Given the description of an element on the screen output the (x, y) to click on. 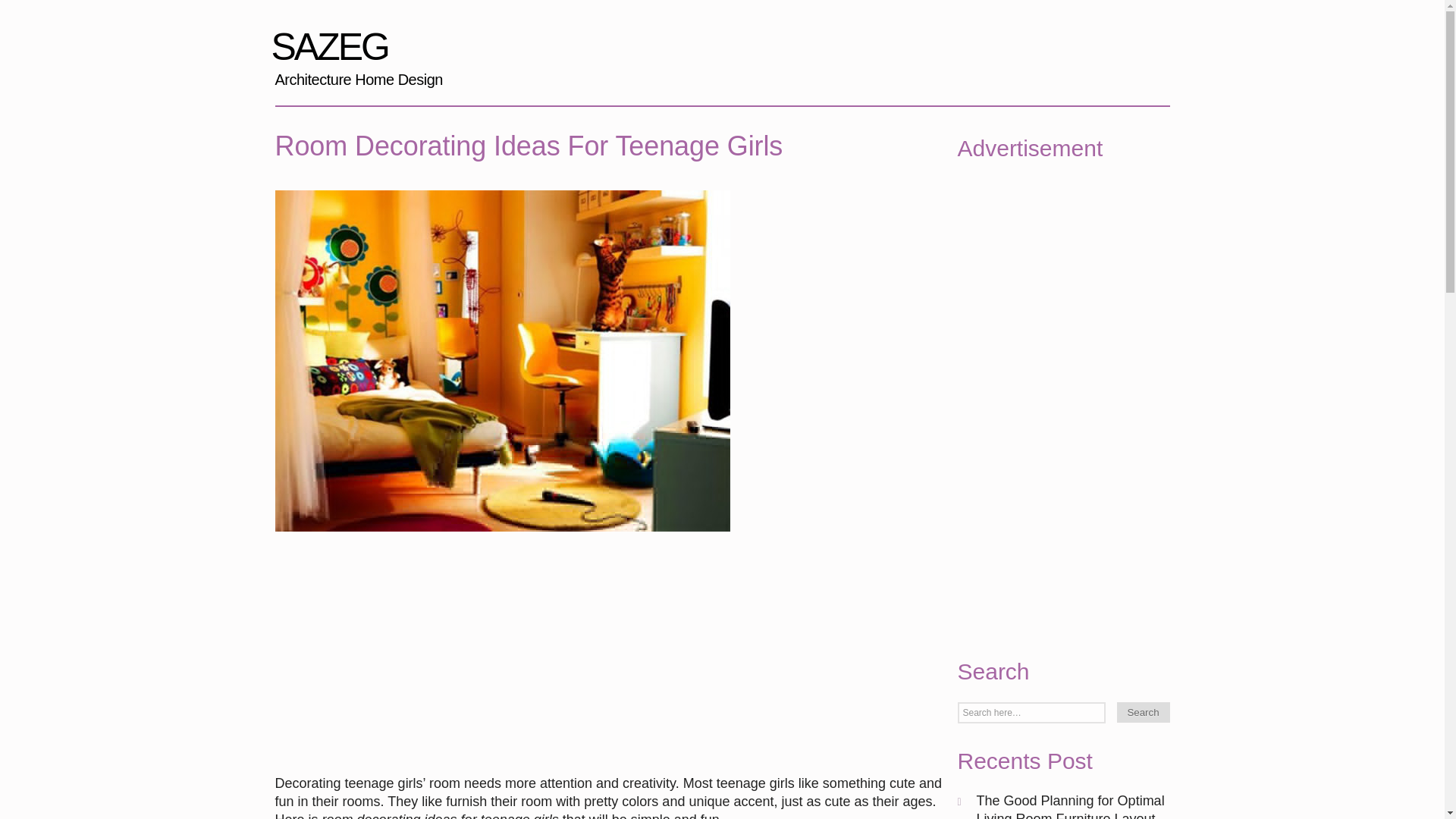
The Good Planning for Optimal Living Room Furniture Layout (1070, 806)
Fresh Yellow Bedroom Decor For Girls (502, 539)
Search (1142, 711)
Search (1142, 711)
